Given the description of an element on the screen output the (x, y) to click on. 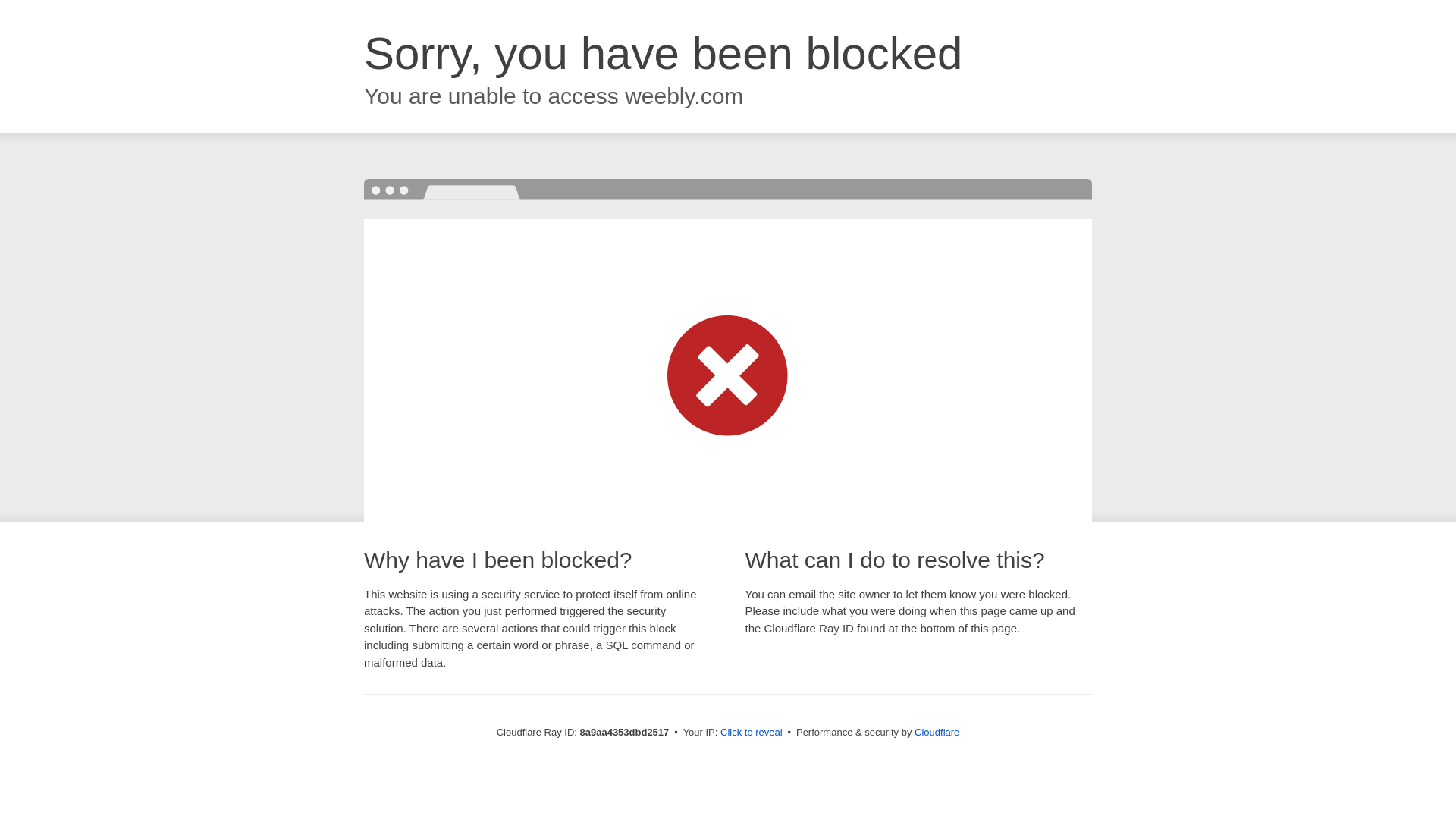
Click to reveal (751, 732)
Cloudflare (936, 731)
